Given the description of an element on the screen output the (x, y) to click on. 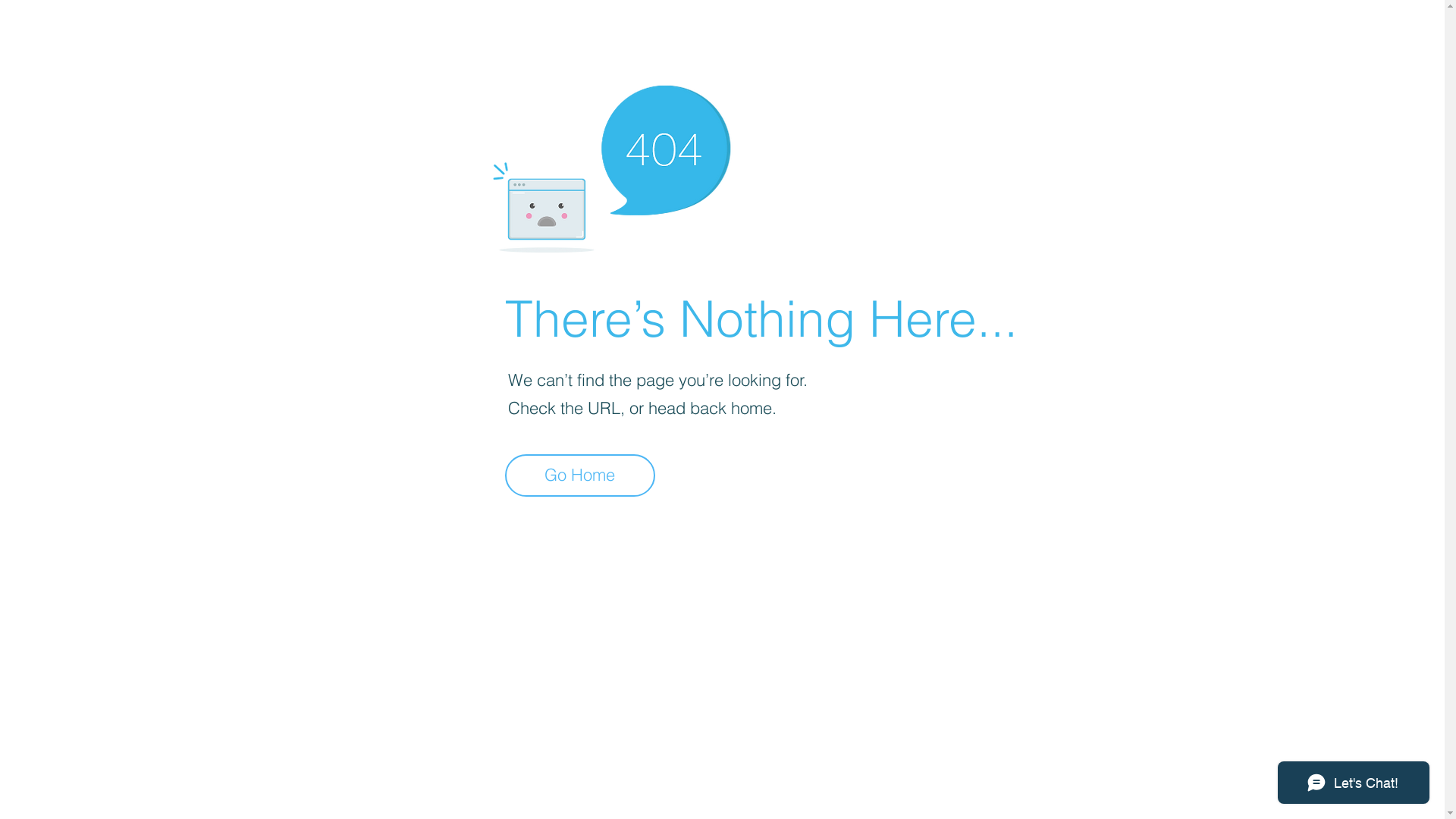
404-icon_2.png Element type: hover (610, 164)
Go Home Element type: text (580, 475)
